Given the description of an element on the screen output the (x, y) to click on. 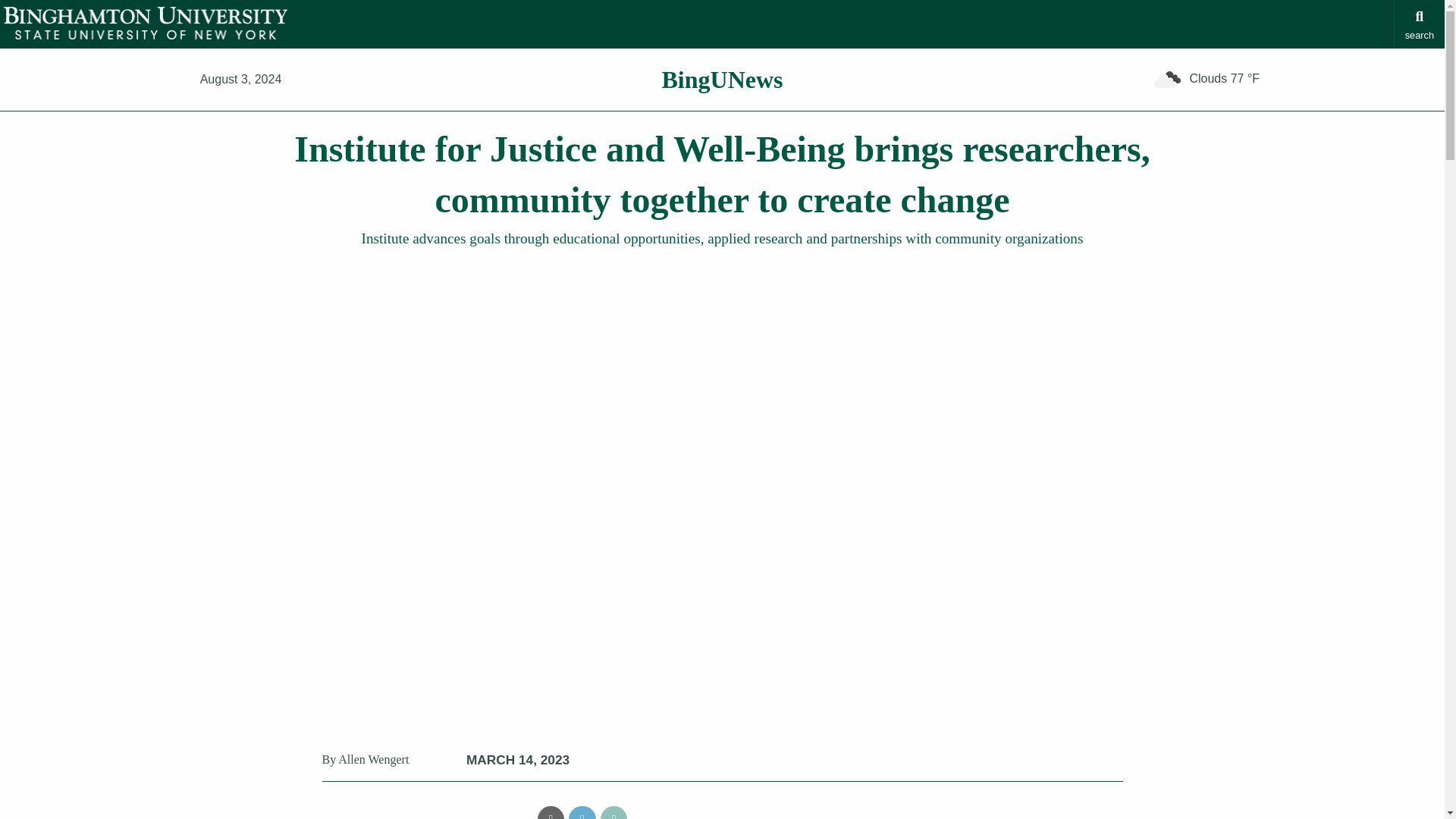
BingUNews (722, 79)
Binghamton University (145, 22)
facebook shares (491, 812)
